Given the description of an element on the screen output the (x, y) to click on. 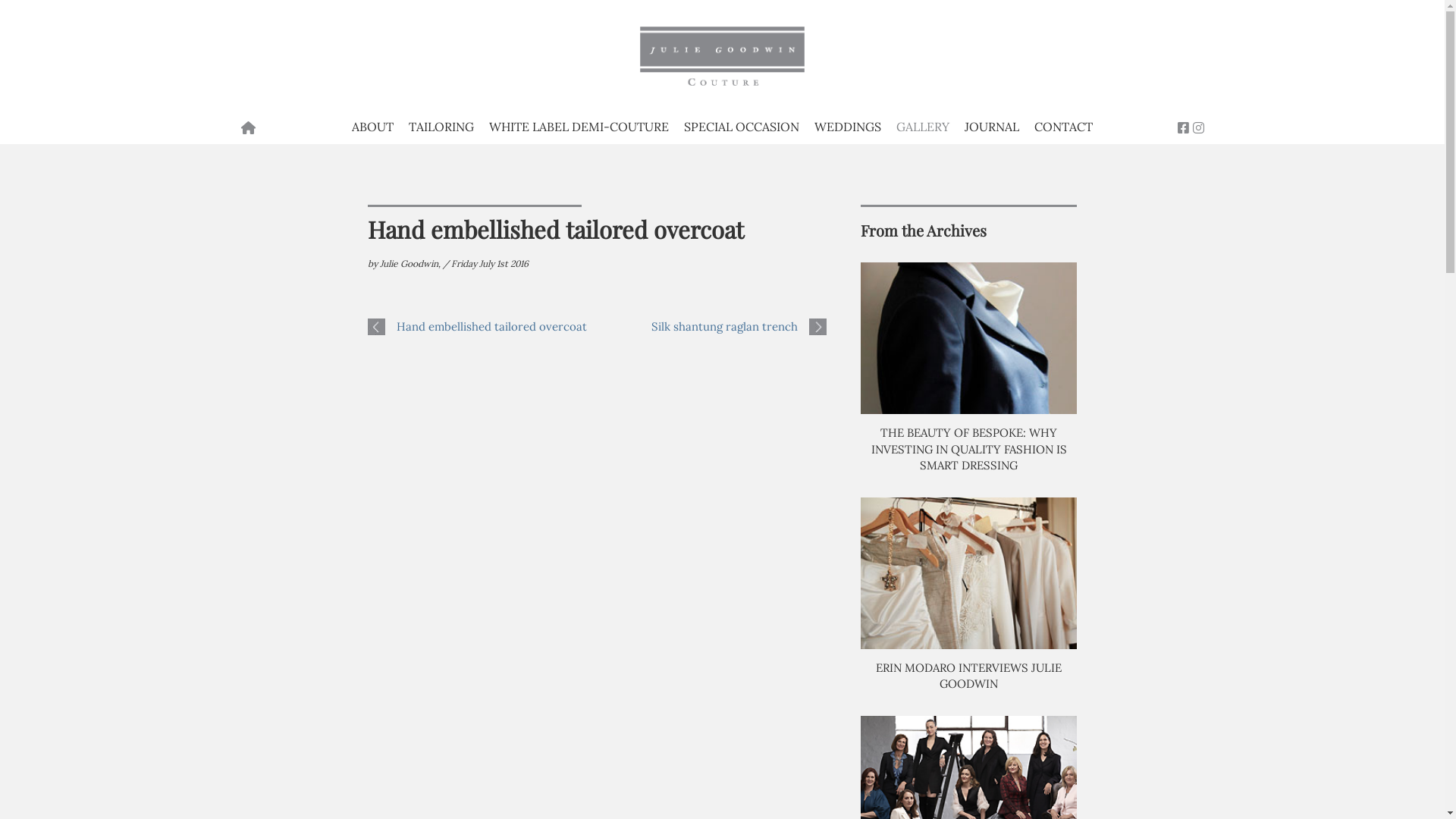
SPECIAL OCCASION Element type: text (741, 124)
Silk shantung raglan trench Element type: text (724, 326)
Hand embellished tailored overcoat Element type: text (490, 326)
ABOUT Element type: text (372, 124)
JOURNAL Element type: text (991, 124)
WHITE LABEL DEMI-COUTURE Element type: text (578, 124)
GALLERY Element type: text (922, 124)
CONTACT Element type: text (1063, 124)
TAILORING Element type: text (440, 124)
WEDDINGS Element type: text (847, 124)
